Given the description of an element on the screen output the (x, y) to click on. 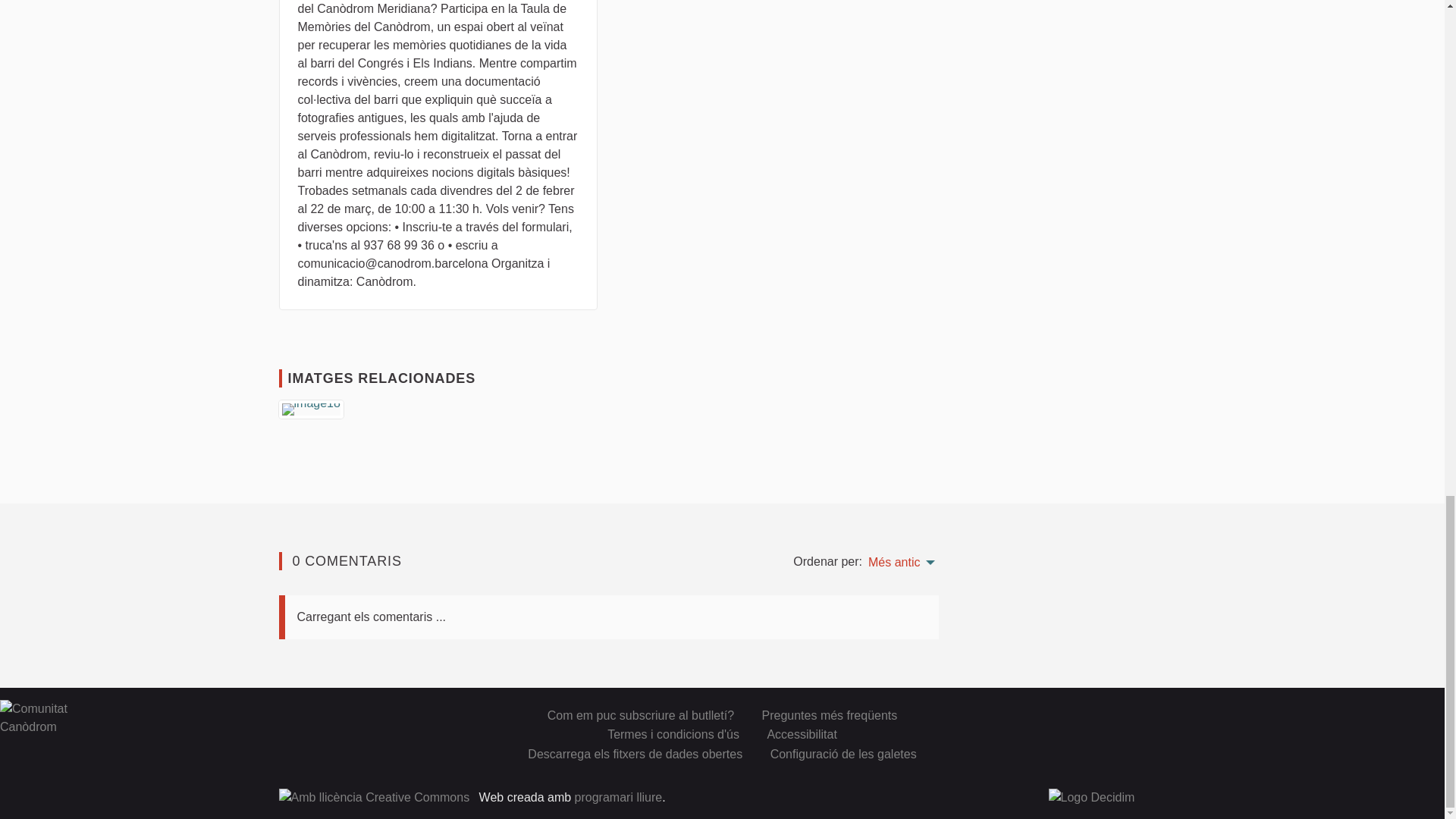
Instagram (1131, 713)
X (1076, 713)
YouTube (1160, 713)
Facebook (1104, 713)
